Given the description of an element on the screen output the (x, y) to click on. 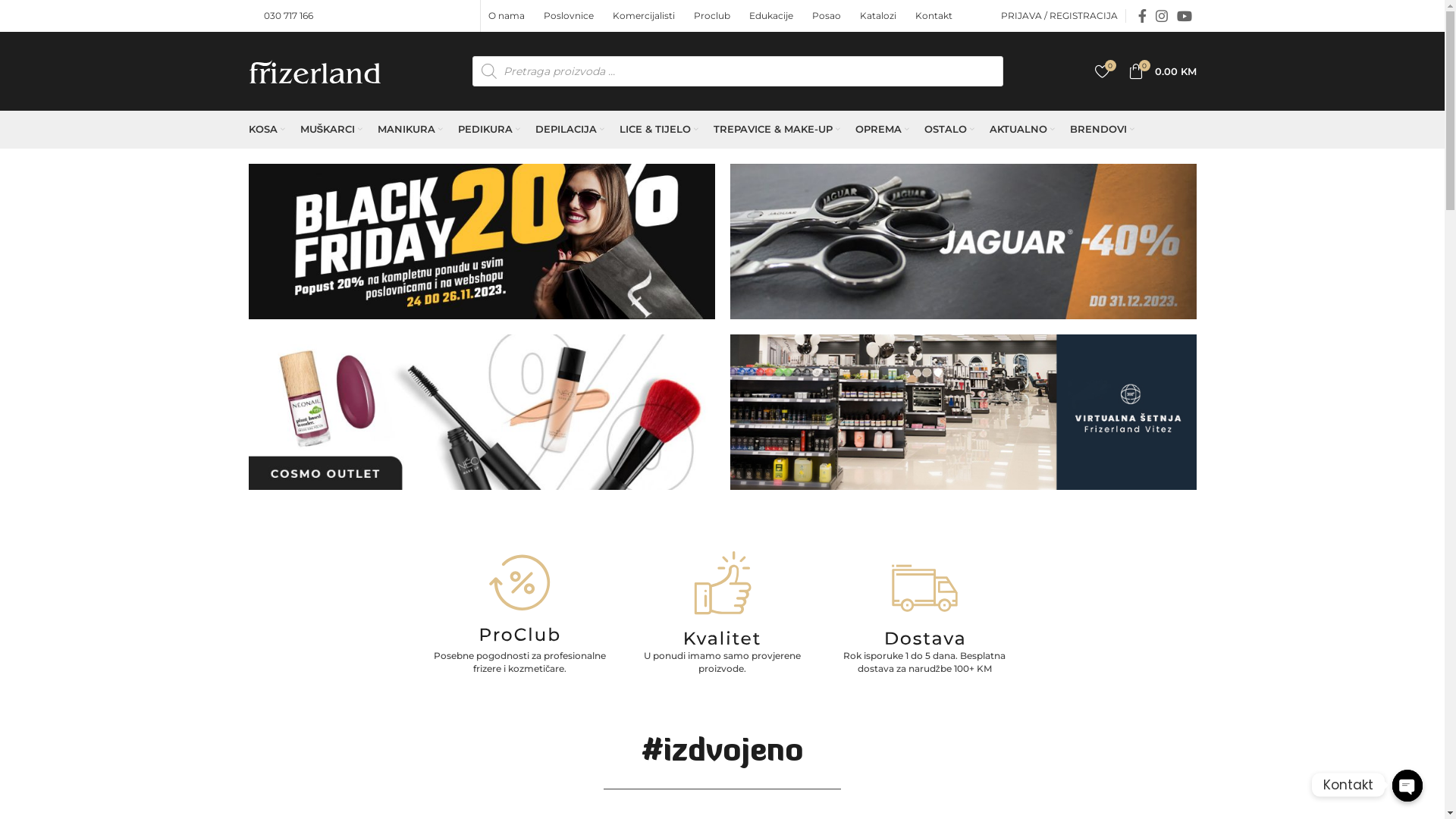
DEPILACIJA Element type: text (569, 129)
0
0.00 KM Element type: text (1162, 71)
0 Element type: text (1102, 71)
KOSA Element type: text (266, 129)
030 717 166 Element type: text (288, 15)
PEDIKURA Element type: text (489, 129)
LICE & TIJELO Element type: text (658, 129)
Katalozi Element type: text (879, 15)
MANIKURA Element type: text (409, 129)
Poslovnice Element type: text (570, 15)
Naslovna 3 Element type: hover (481, 411)
Prijavi se Element type: text (991, 246)
Naslovna 1 Element type: hover (481, 241)
OPREMA Element type: text (882, 129)
Naslovna 2 Element type: hover (962, 241)
Naslovna 4 Element type: hover (962, 411)
Edukacije Element type: text (773, 15)
OSTALO Element type: text (949, 129)
TREPAVICE & MAKE-UP Element type: text (776, 129)
AKTUALNO Element type: text (1021, 129)
PRIJAVA / REGISTRACIJA Element type: text (1059, 15)
BRENDOVI Element type: text (1102, 129)
Komercijalisti Element type: text (645, 15)
Kontakt Element type: text (935, 15)
Posao Element type: text (828, 15)
O nama Element type: text (508, 15)
Proclub Element type: text (713, 15)
